Given the description of an element on the screen output the (x, y) to click on. 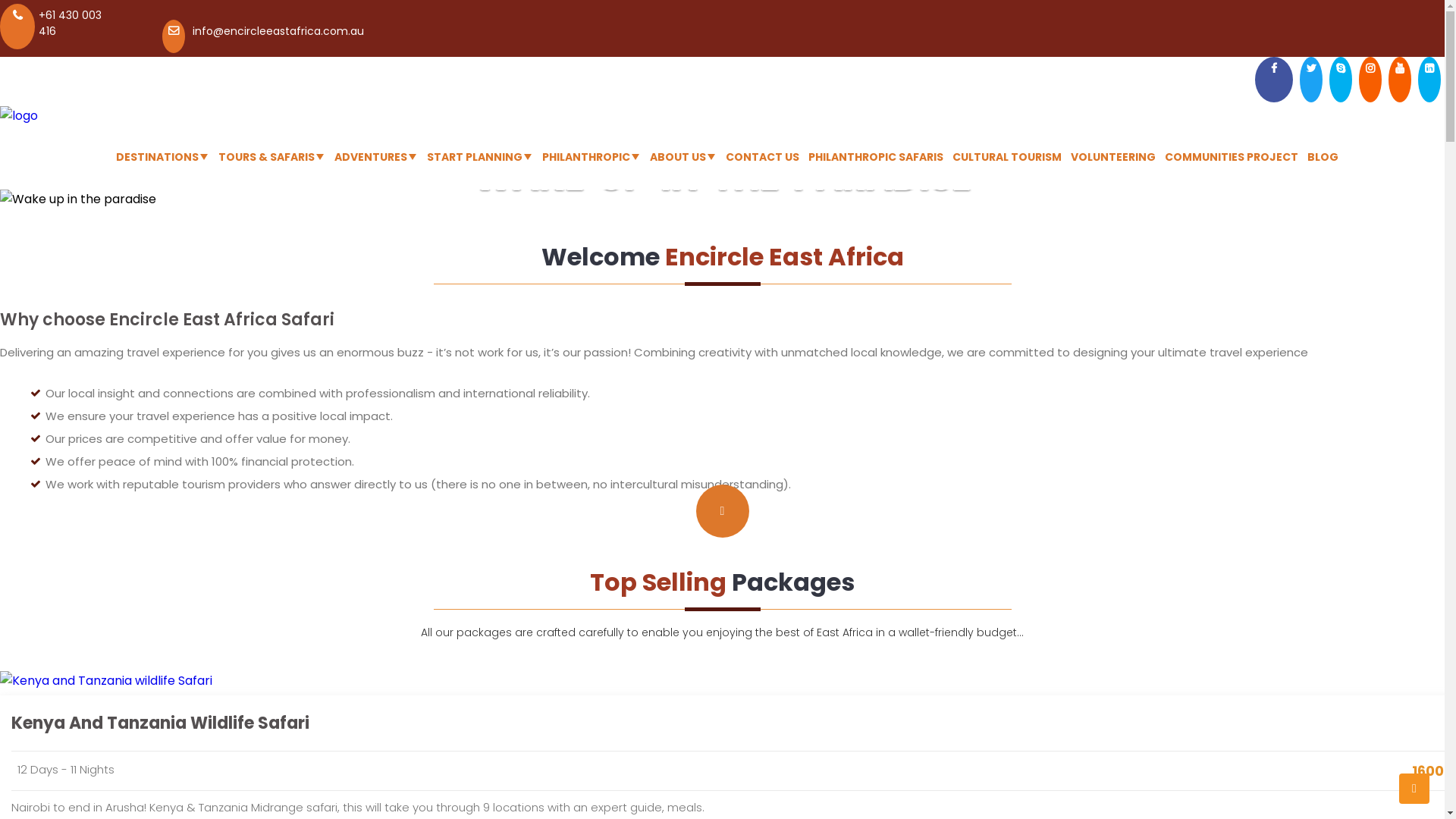
TOURS & SAFARIS Element type: text (266, 157)
DESTINATIONS Element type: text (156, 157)
info@encircleeastafrica.com.au Element type: text (278, 30)
ABOUT US Element type: text (677, 157)
CULTURAL TOURISM Element type: text (1006, 157)
PHILANTHROPIC Element type: text (585, 157)
VOLUNTEERING Element type: text (1112, 157)
CONTACT US Element type: text (761, 157)
START PLANNING Element type: text (473, 157)
COMMUNITIES PROJECT Element type: text (1231, 157)
Kenya and Tanzania wildlife Safari Element type: hover (106, 680)
PHILANTHROPIC SAFARIS Element type: text (875, 157)
+61 430 003 416 Element type: text (69, 22)
BLOG Element type: text (1322, 157)
Wake up in the paradise Element type: hover (722, 198)
ADVENTURES Element type: text (369, 157)
